Given the description of an element on the screen output the (x, y) to click on. 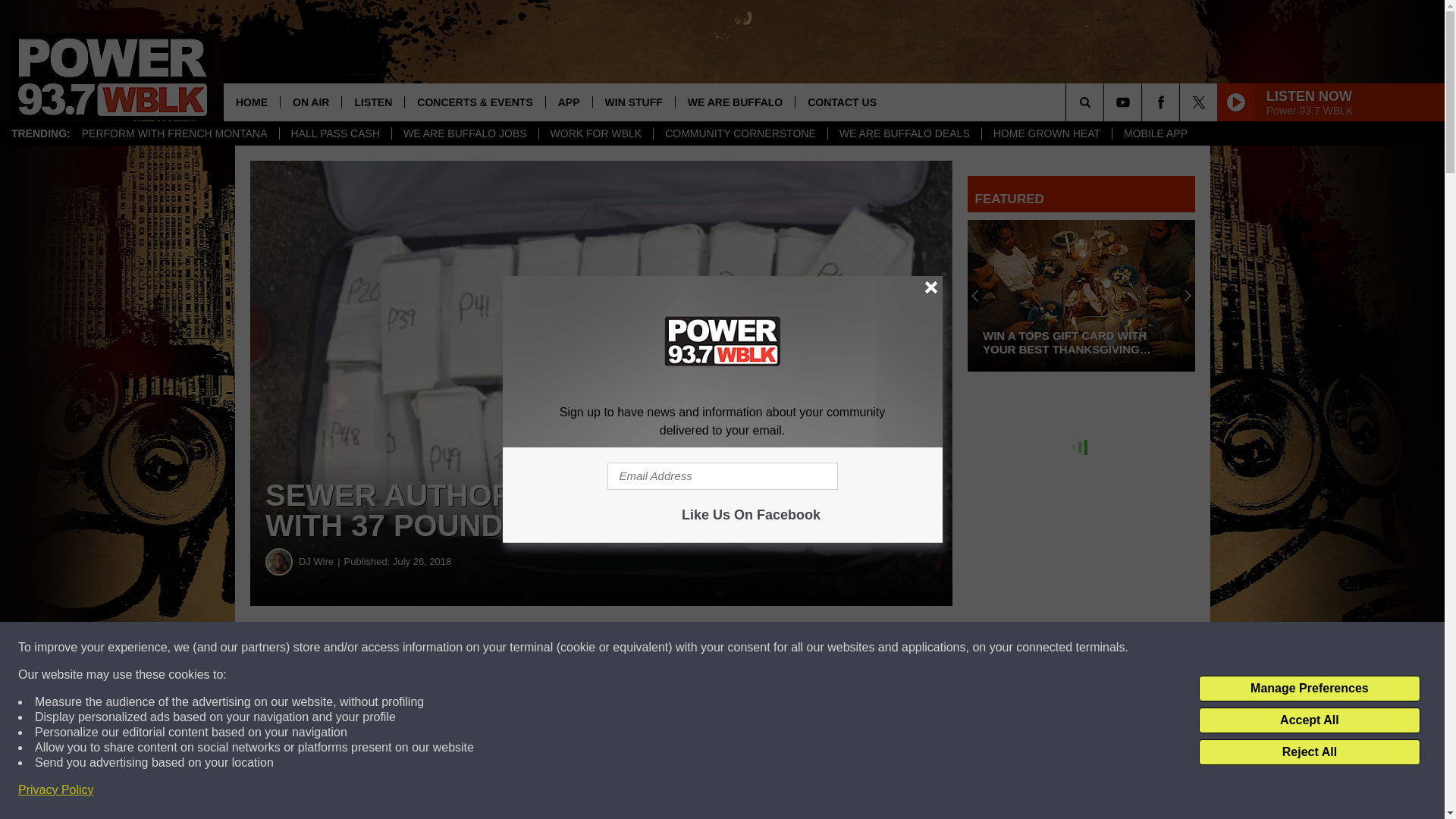
Share on Facebook (460, 647)
HALL PASS CASH (335, 133)
Email Address (722, 475)
Privacy Policy (55, 789)
WE ARE BUFFALO JOBS (464, 133)
APP (568, 102)
MOBILE APP (1155, 133)
WE ARE BUFFALO DEALS (904, 133)
LISTEN (372, 102)
Share on Twitter (741, 647)
Reject All (1309, 751)
HOME (251, 102)
WIN STUFF (633, 102)
HOME GROWN HEAT (1046, 133)
Manage Preferences (1309, 688)
